Given the description of an element on the screen output the (x, y) to click on. 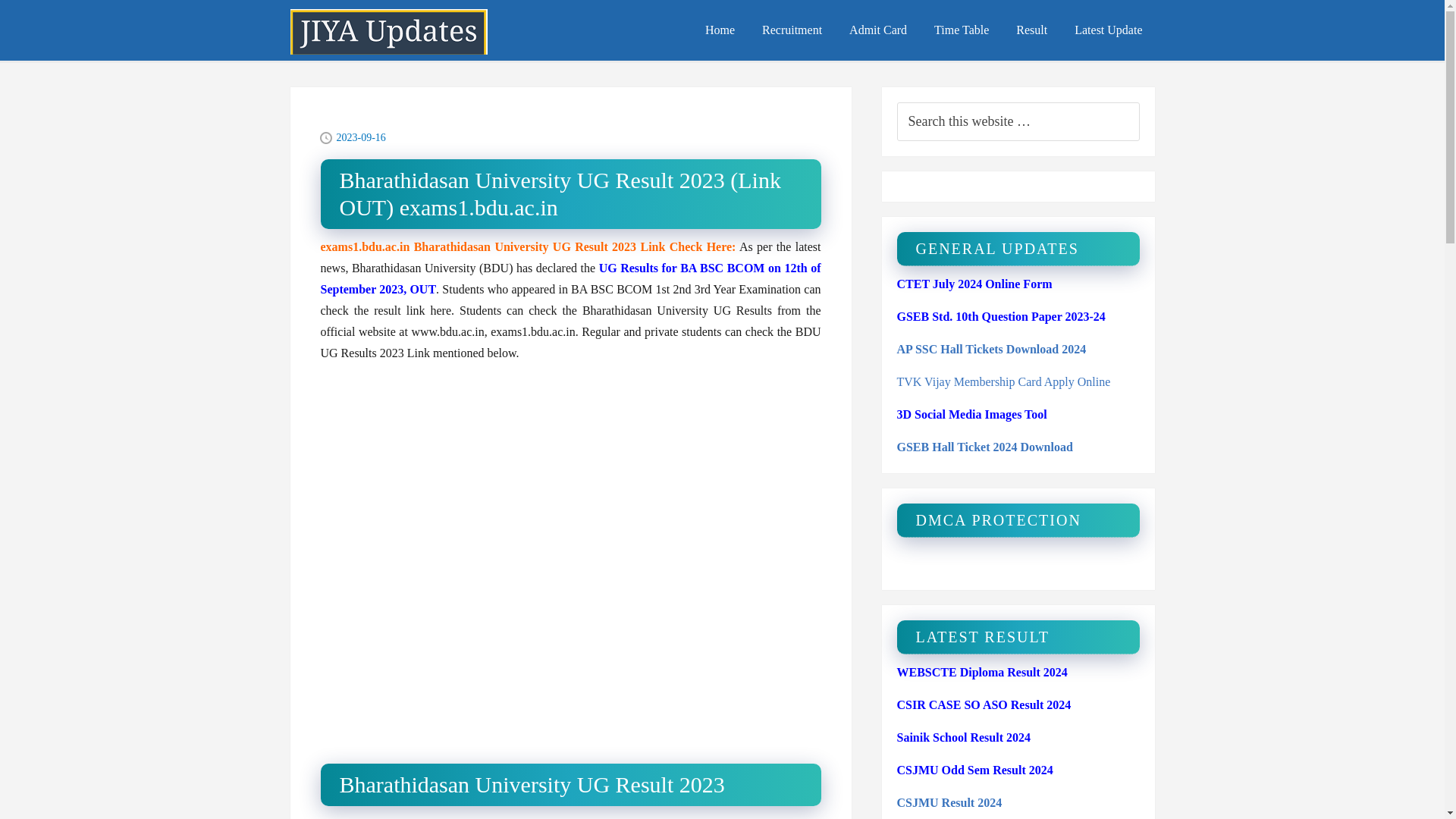
Time Table (961, 30)
TVK Vijay Membership Card Apply Online (1002, 381)
CSJMU Result 2024 (948, 802)
DMCA.com Protection Status (951, 563)
CSJMU Odd Sem Result 2024 (974, 769)
GSEB Std. 10th Question Paper 2023-24 (1000, 316)
Admit Card (877, 30)
Recruitment (791, 30)
Latest Update (1108, 30)
3D Social Media Images Tool (971, 413)
CTET July 2024 Online Form (973, 283)
GSEB Hall Ticket 2024 Download (983, 446)
AP SSC Hall Tickets Download 2024 (991, 349)
